Given the description of an element on the screen output the (x, y) to click on. 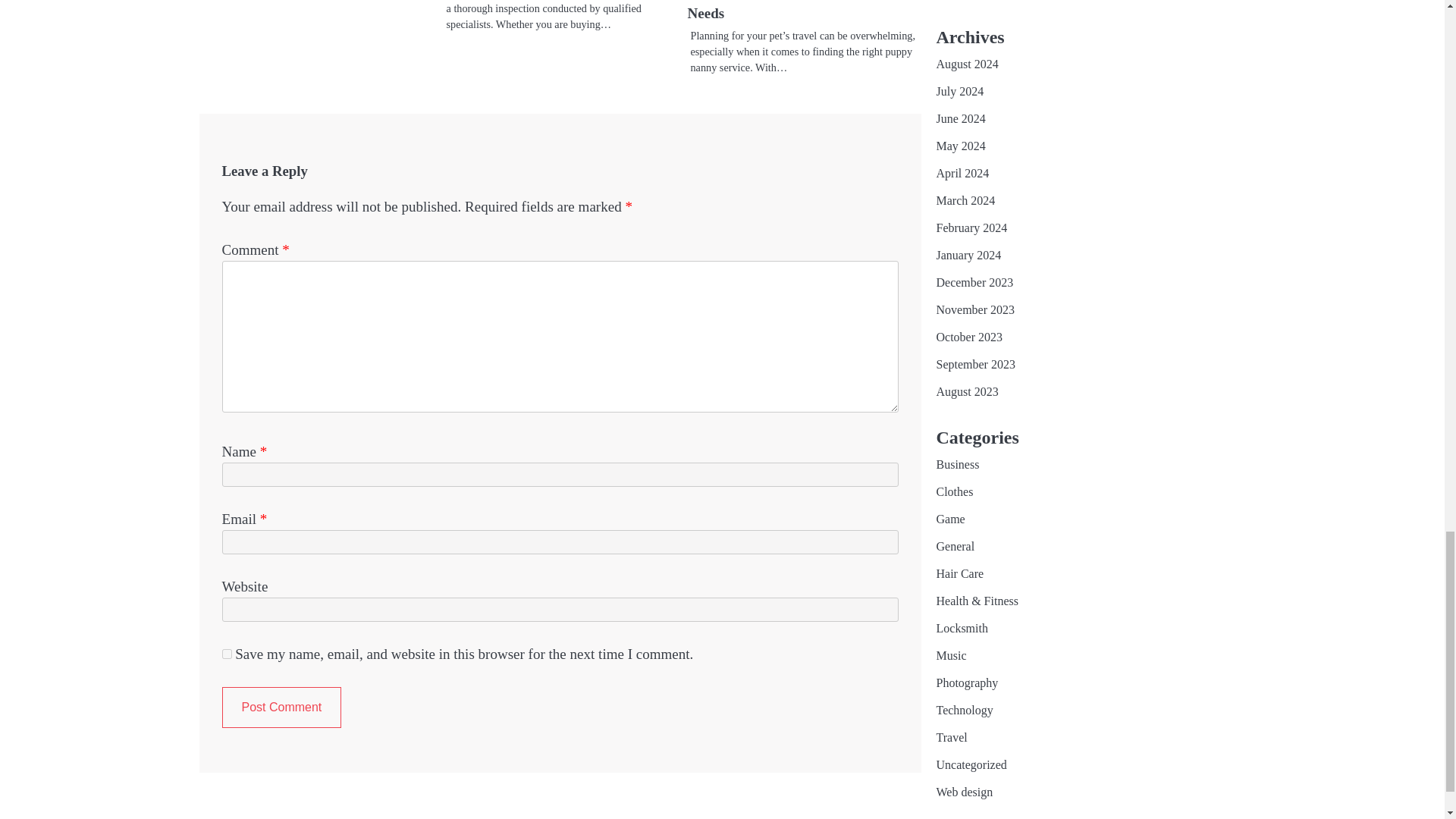
yes (226, 654)
Post Comment (280, 707)
Post Comment (280, 707)
